Given the description of an element on the screen output the (x, y) to click on. 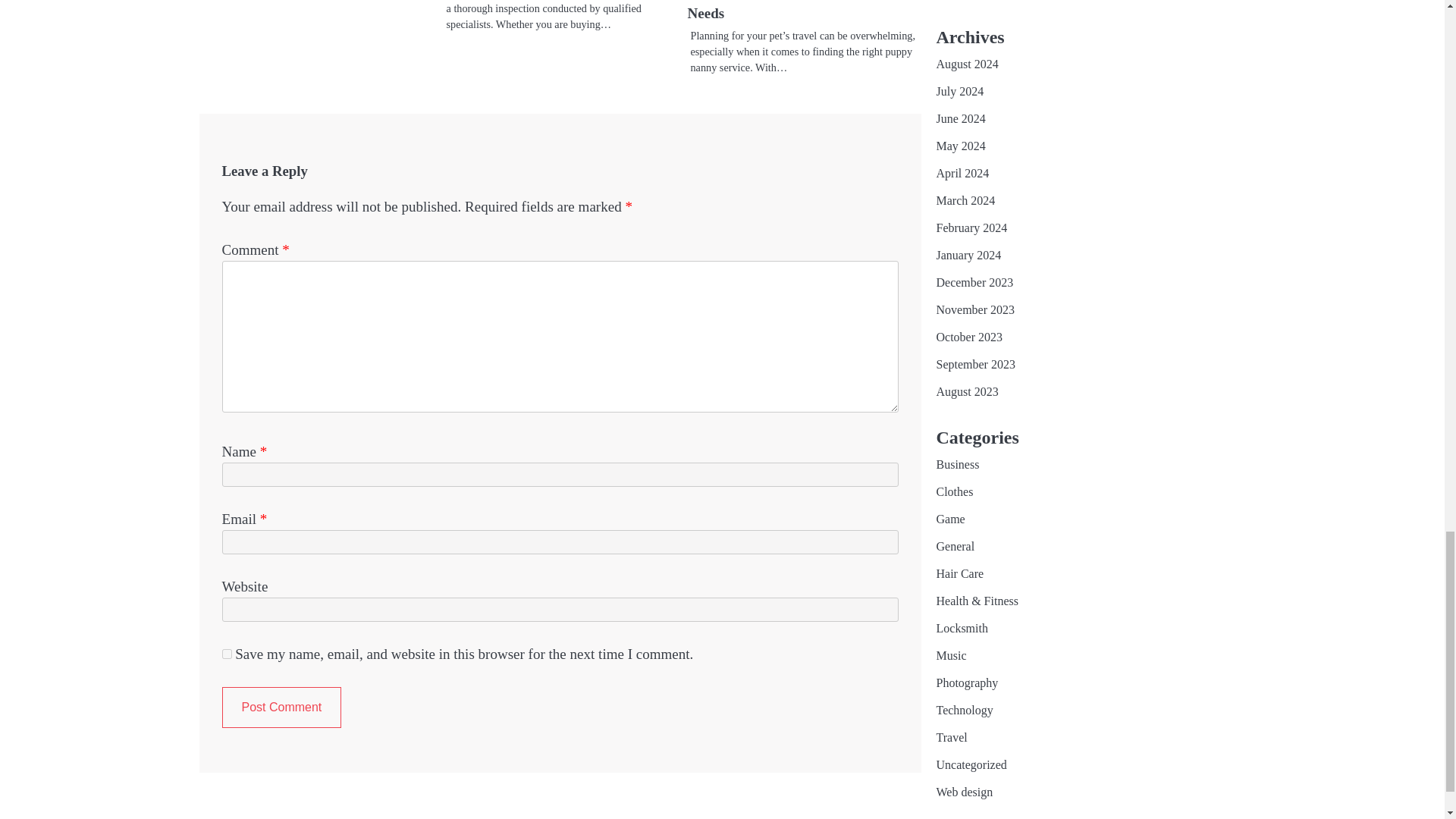
yes (226, 654)
Post Comment (280, 707)
Post Comment (280, 707)
